Given the description of an element on the screen output the (x, y) to click on. 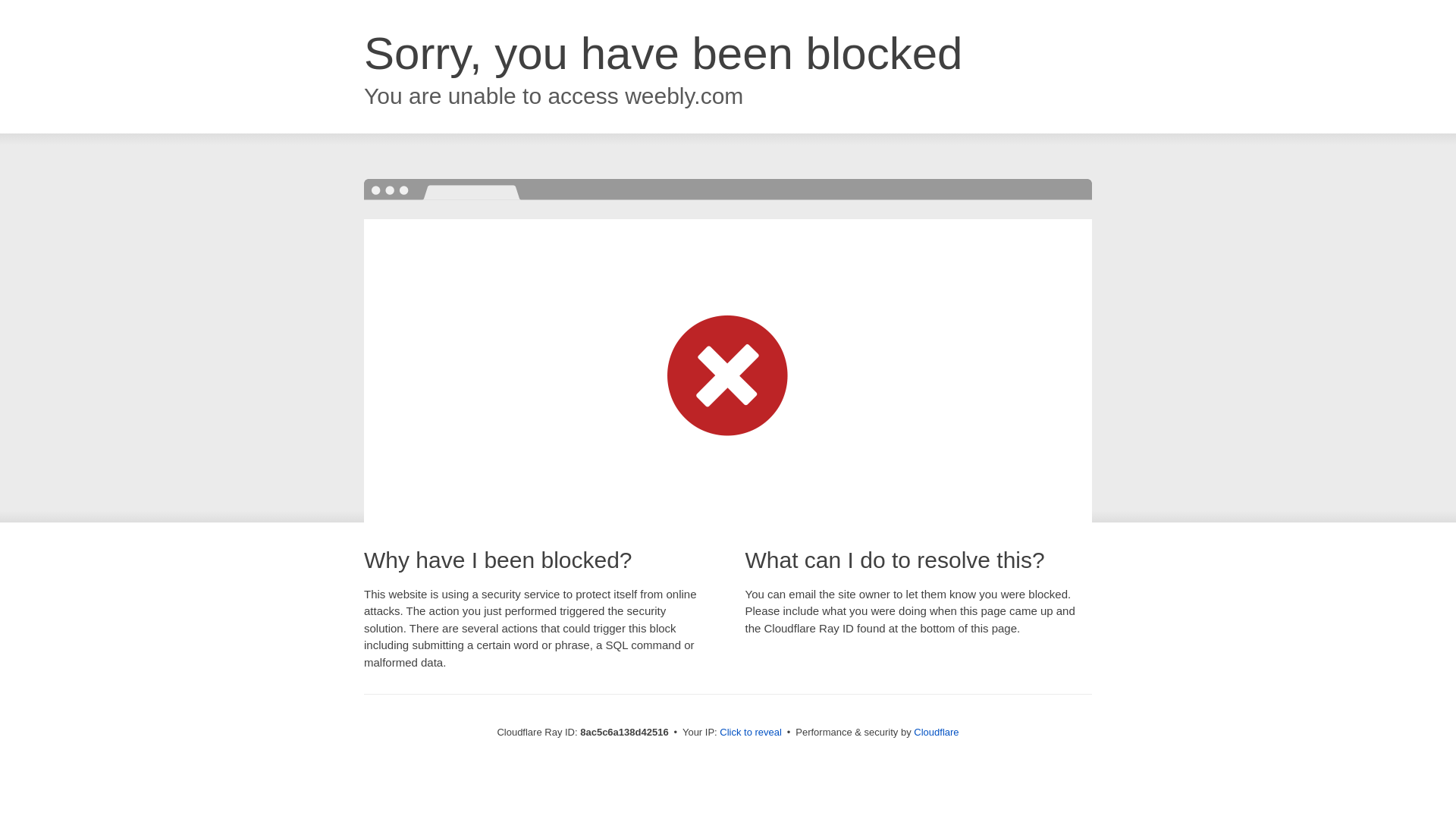
Click to reveal (750, 732)
Cloudflare (936, 731)
